Given the description of an element on the screen output the (x, y) to click on. 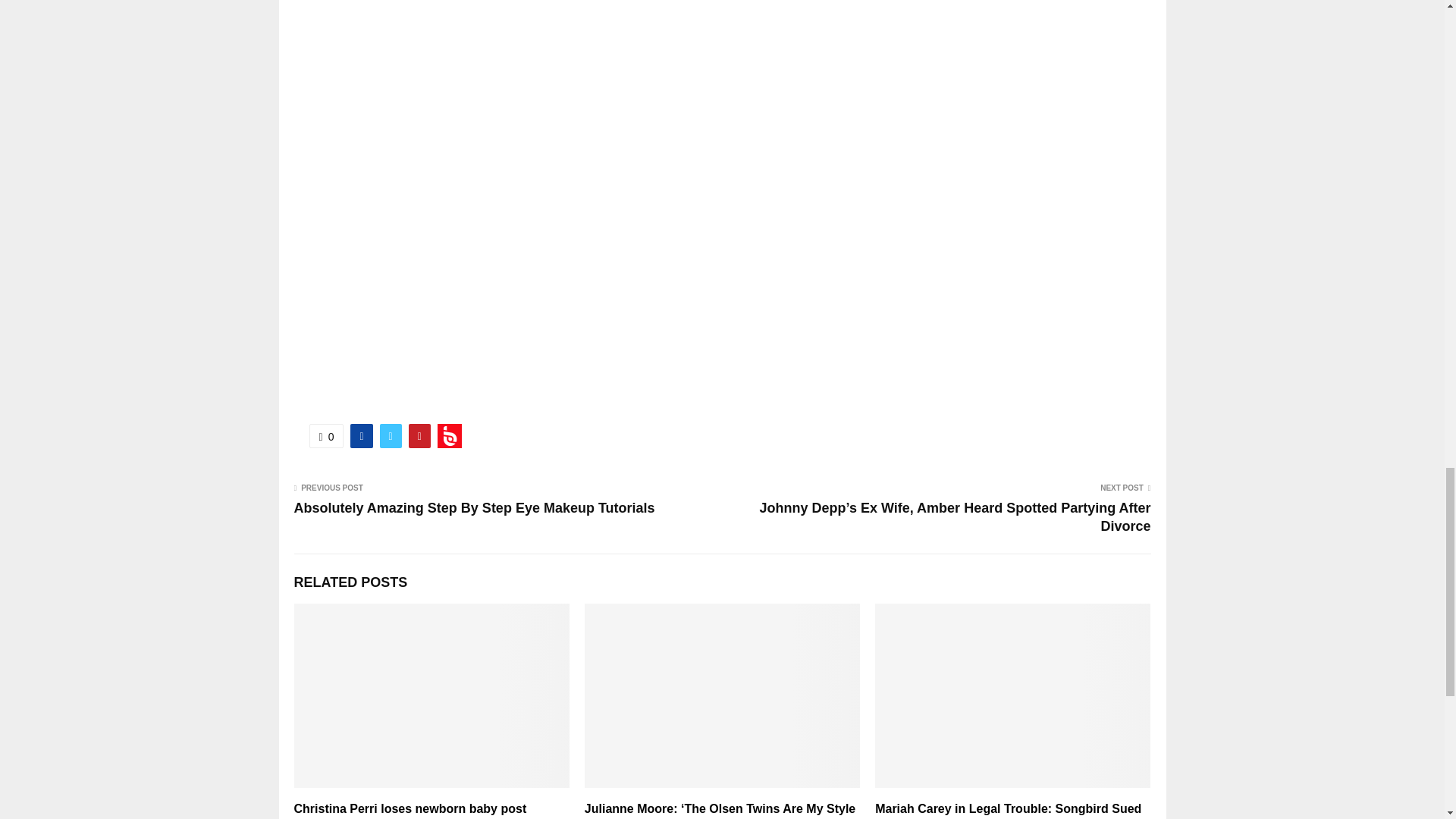
0 (325, 435)
Like (325, 435)
Advertisement (722, 78)
Absolutely Amazing Step By Step Eye Makeup Tutorials (474, 507)
